Given the description of an element on the screen output the (x, y) to click on. 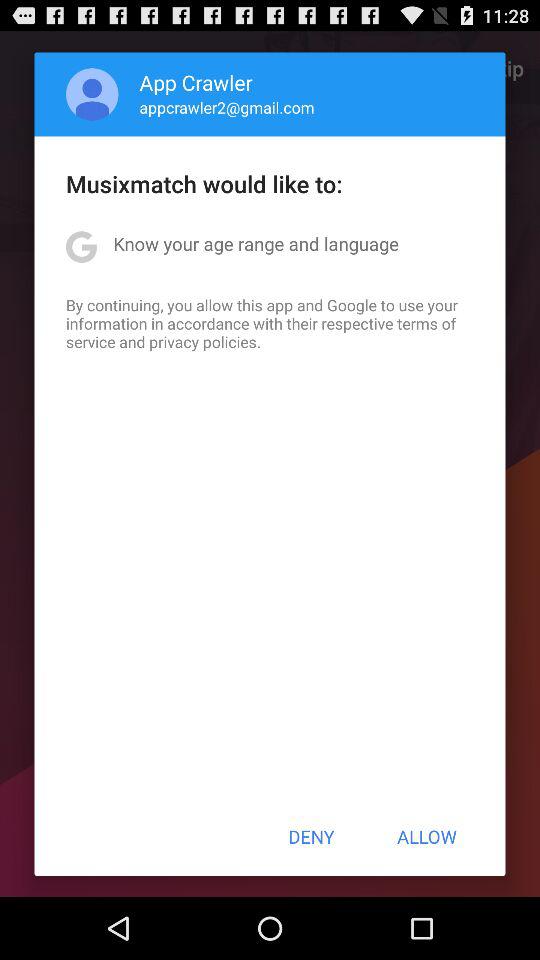
select the app crawler (195, 82)
